Given the description of an element on the screen output the (x, y) to click on. 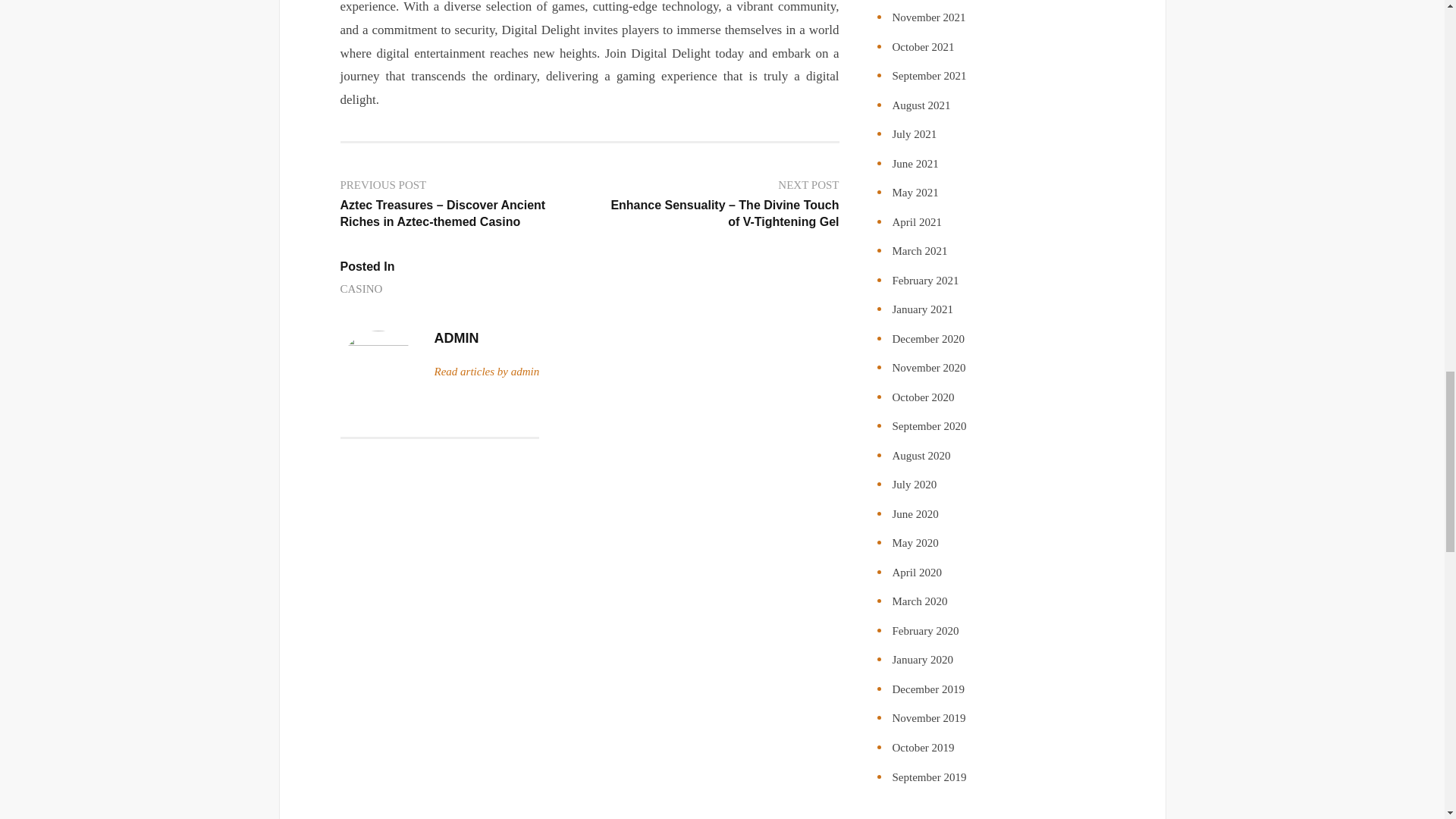
Read articles by admin (485, 371)
CASINO (360, 289)
